Given the description of an element on the screen output the (x, y) to click on. 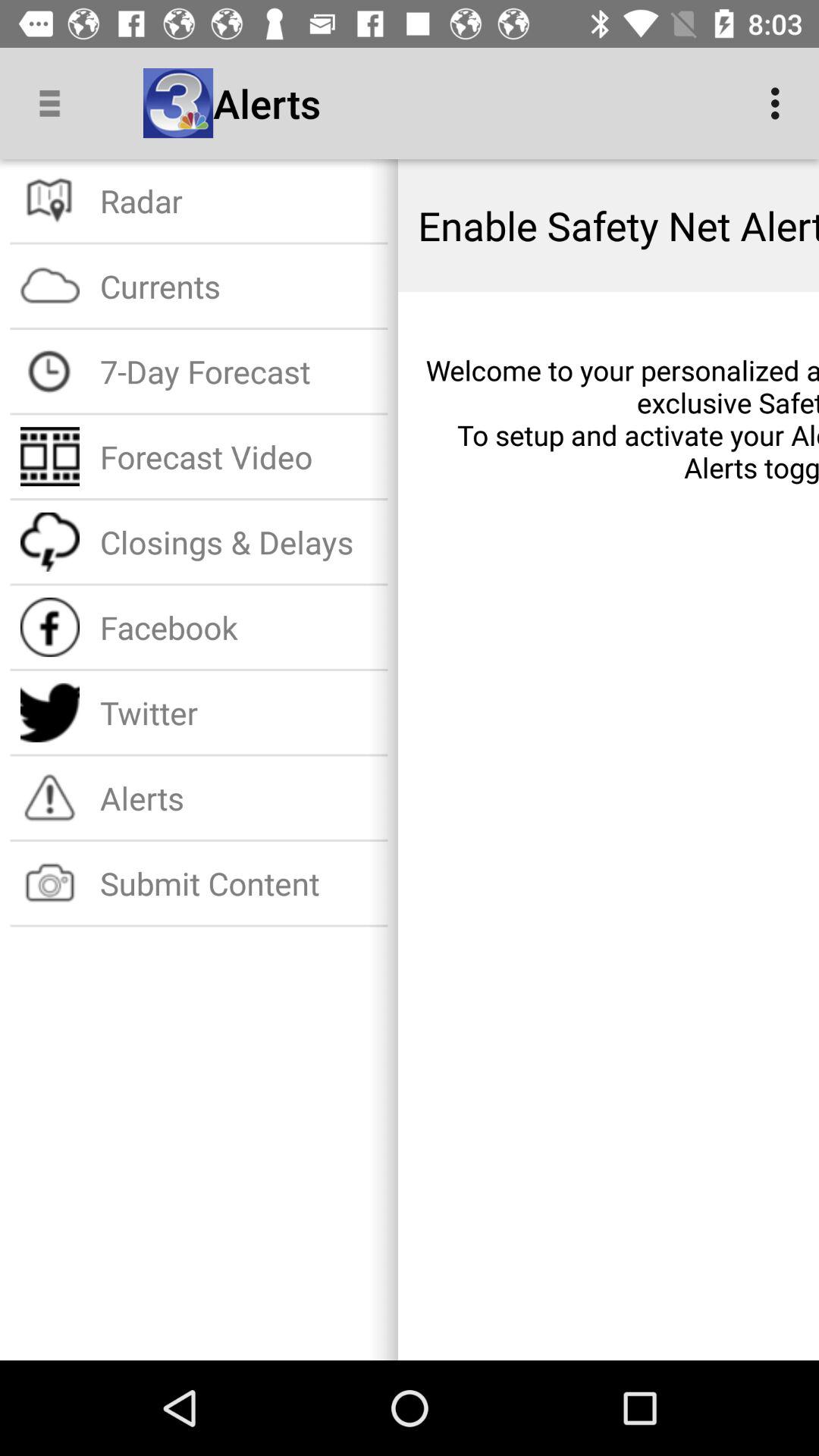
jump until closings & delays (238, 541)
